Given the description of an element on the screen output the (x, y) to click on. 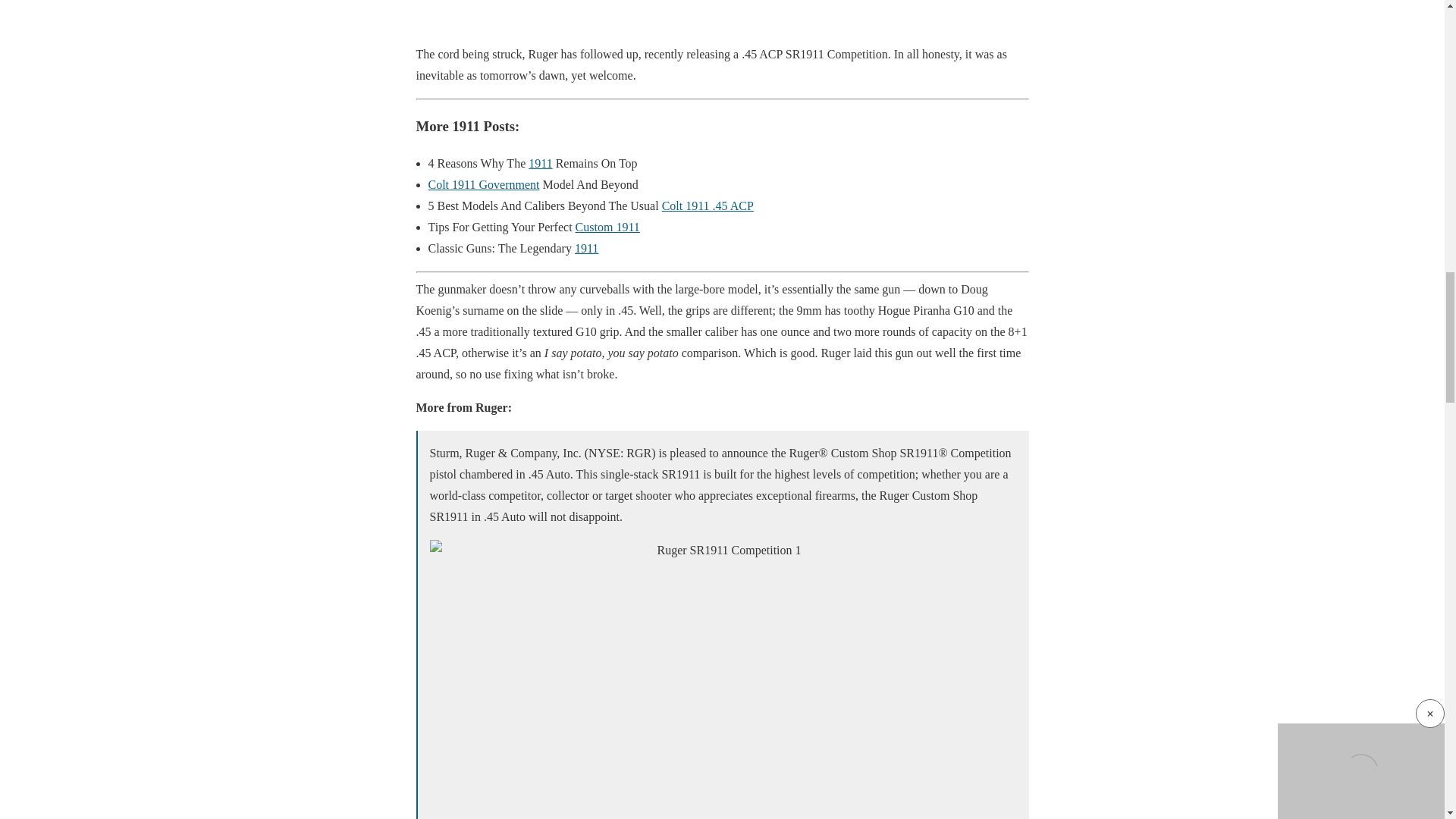
Custom 1911 (607, 226)
Colt 1911 .45 ACP (708, 205)
1911 (586, 247)
Colt 1911 Government (483, 184)
3rd party ad content (721, 15)
1911 (539, 163)
